Given the description of an element on the screen output the (x, y) to click on. 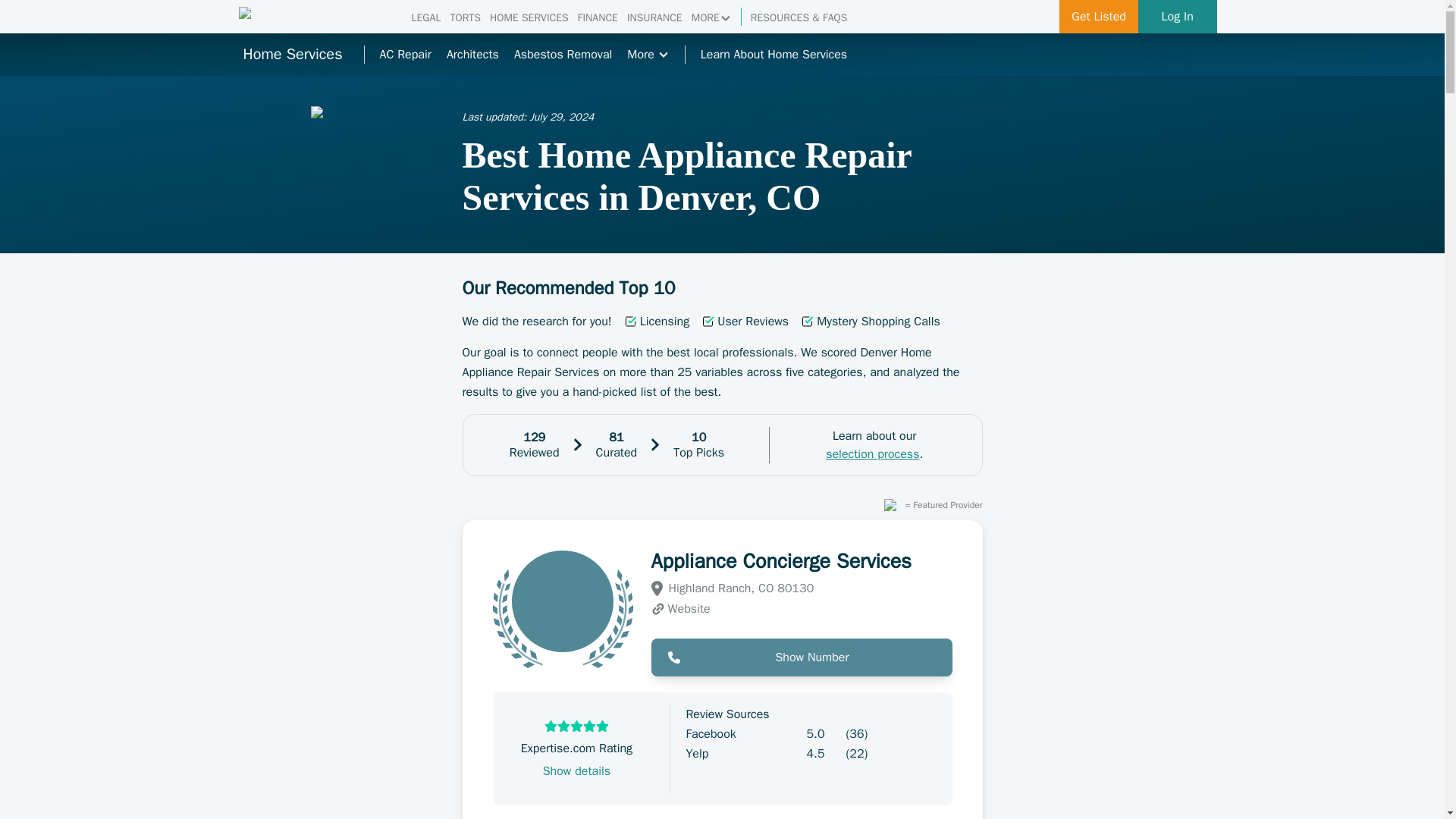
Log In (1177, 16)
Architects (472, 54)
MORE (711, 17)
Home Services (291, 53)
FINANCE (597, 17)
AC Repair (405, 54)
More (647, 54)
HOME SERVICES (529, 17)
LEGAL (425, 17)
INSURANCE (654, 17)
TORTS (464, 17)
Asbestos Removal (562, 54)
Get Listed (1098, 16)
